Given the description of an element on the screen output the (x, y) to click on. 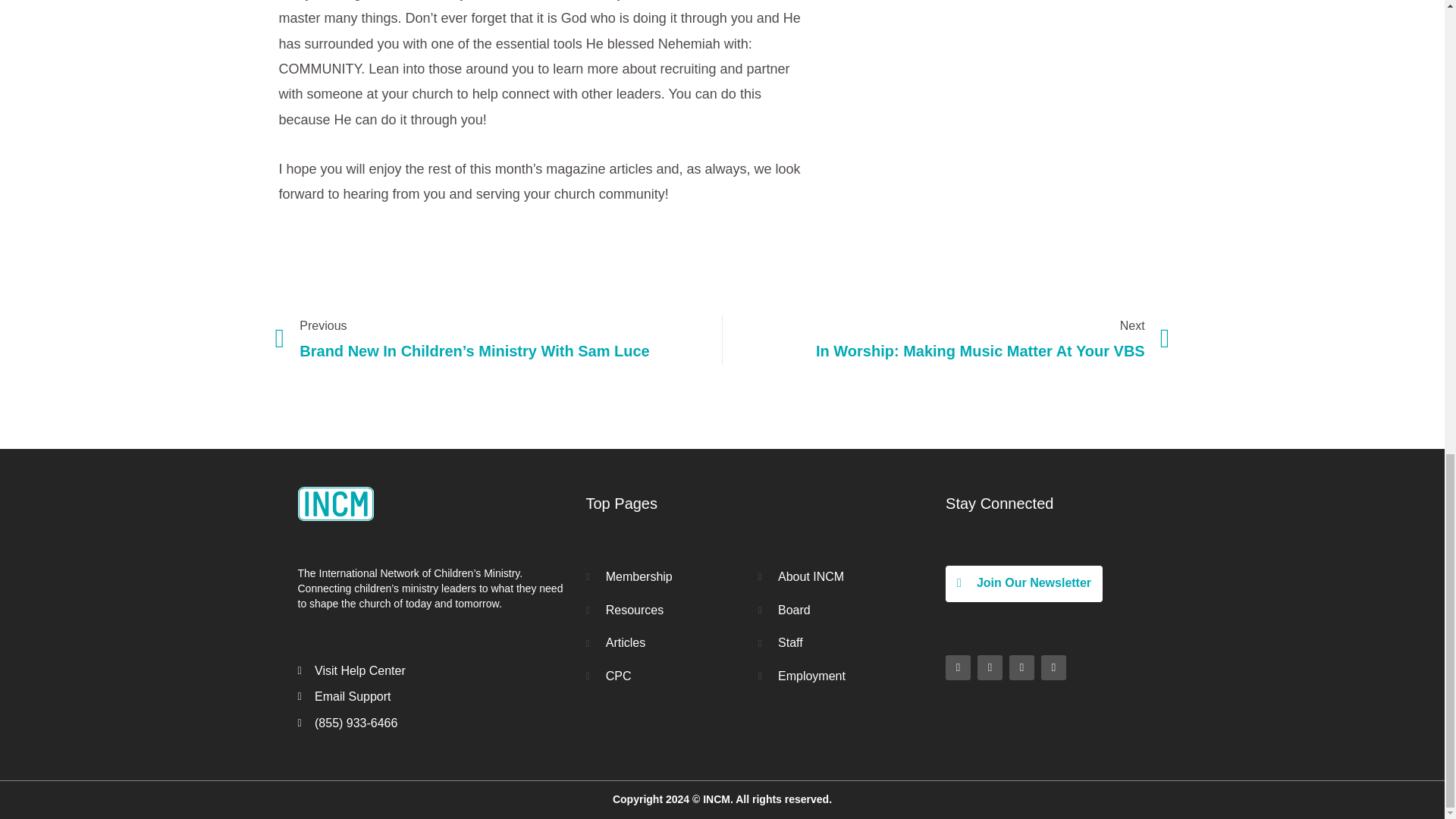
Membership (671, 576)
Visit Help Center (433, 671)
Resources (671, 609)
CPC (671, 676)
Articles (946, 339)
Email Support (671, 642)
